Given the description of an element on the screen output the (x, y) to click on. 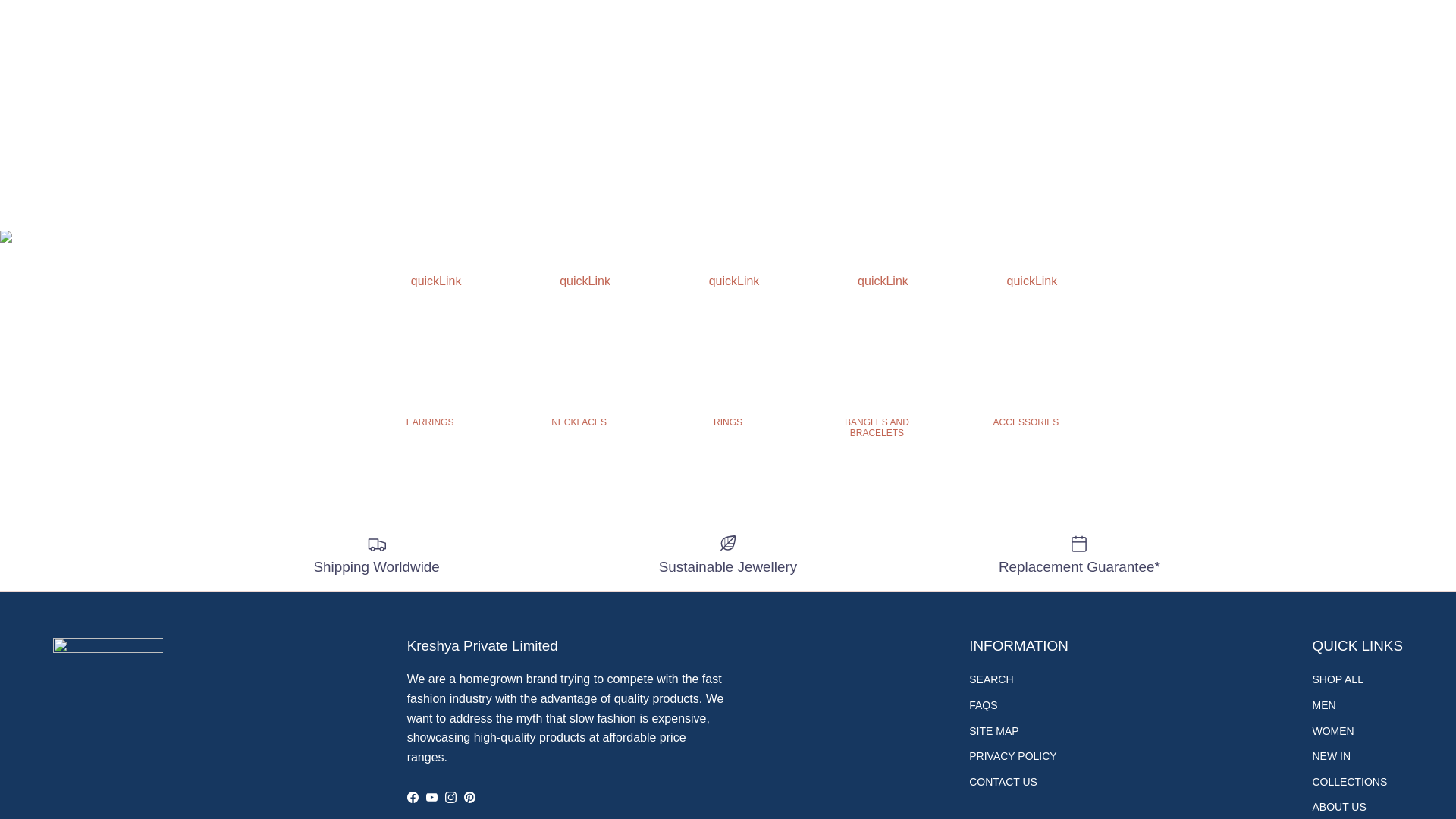
Kreshya on Facebook (413, 797)
Kreshya on YouTube (432, 797)
Kreshya on Instagram (451, 797)
Kreshya on Pinterest (470, 797)
